Given the description of an element on the screen output the (x, y) to click on. 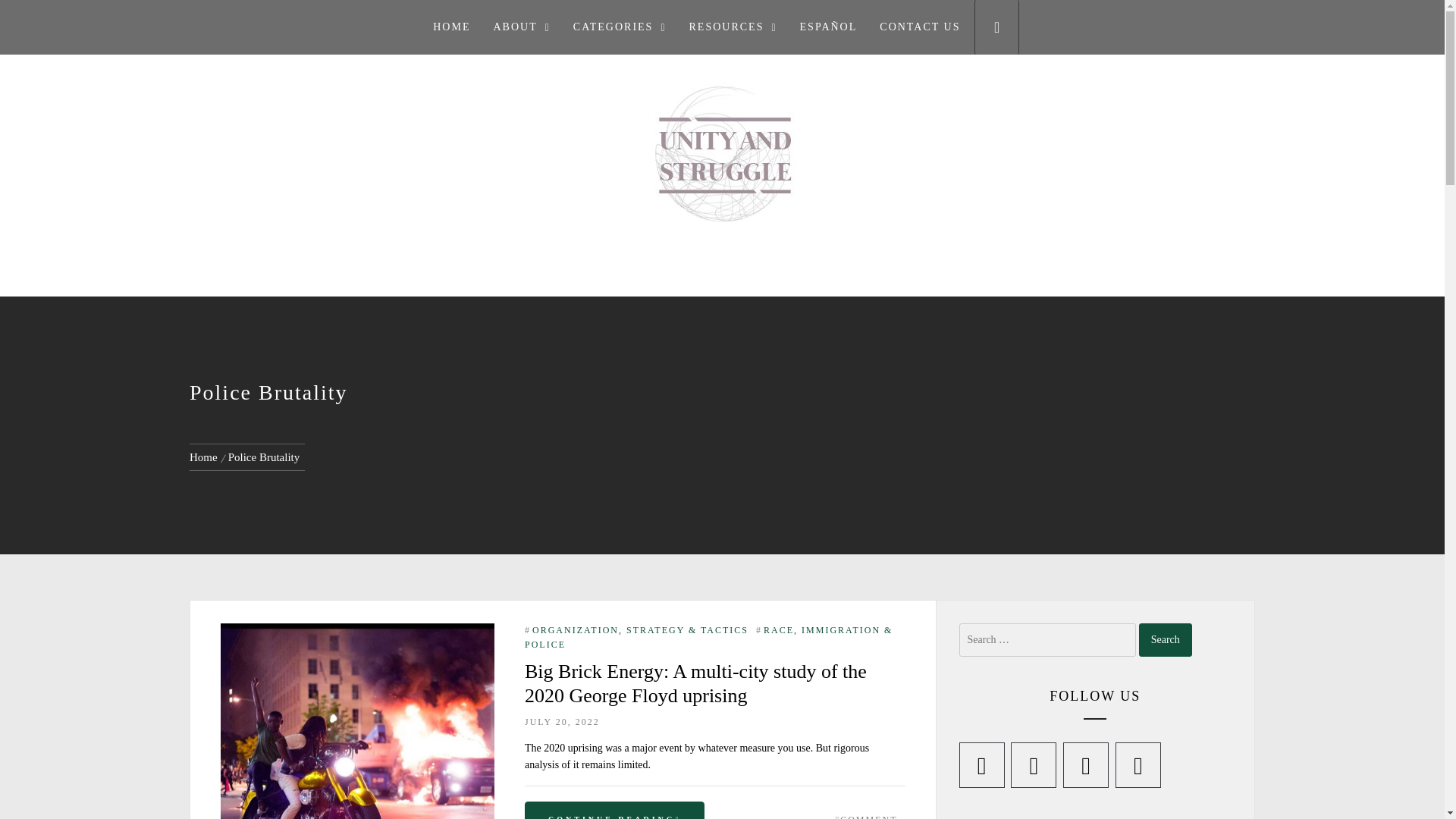
Home (205, 457)
ABOUT (520, 27)
Search (797, 407)
RESOURCES (733, 27)
HOME (451, 27)
JULY 20, 2022 (561, 725)
CATEGORIES (620, 27)
Police Brutality (263, 457)
